Given the description of an element on the screen output the (x, y) to click on. 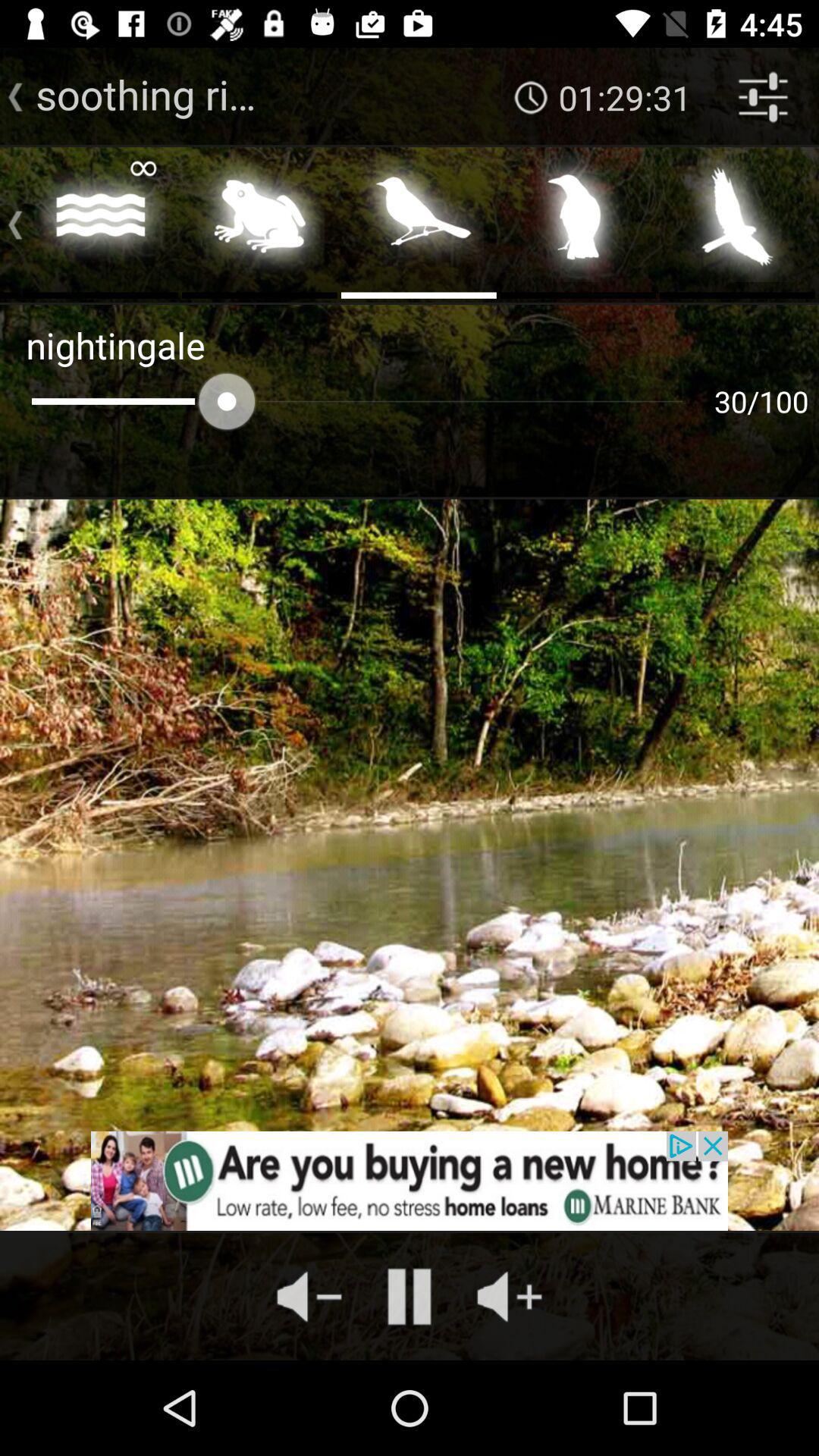
play water sounds (100, 221)
